Given the description of an element on the screen output the (x, y) to click on. 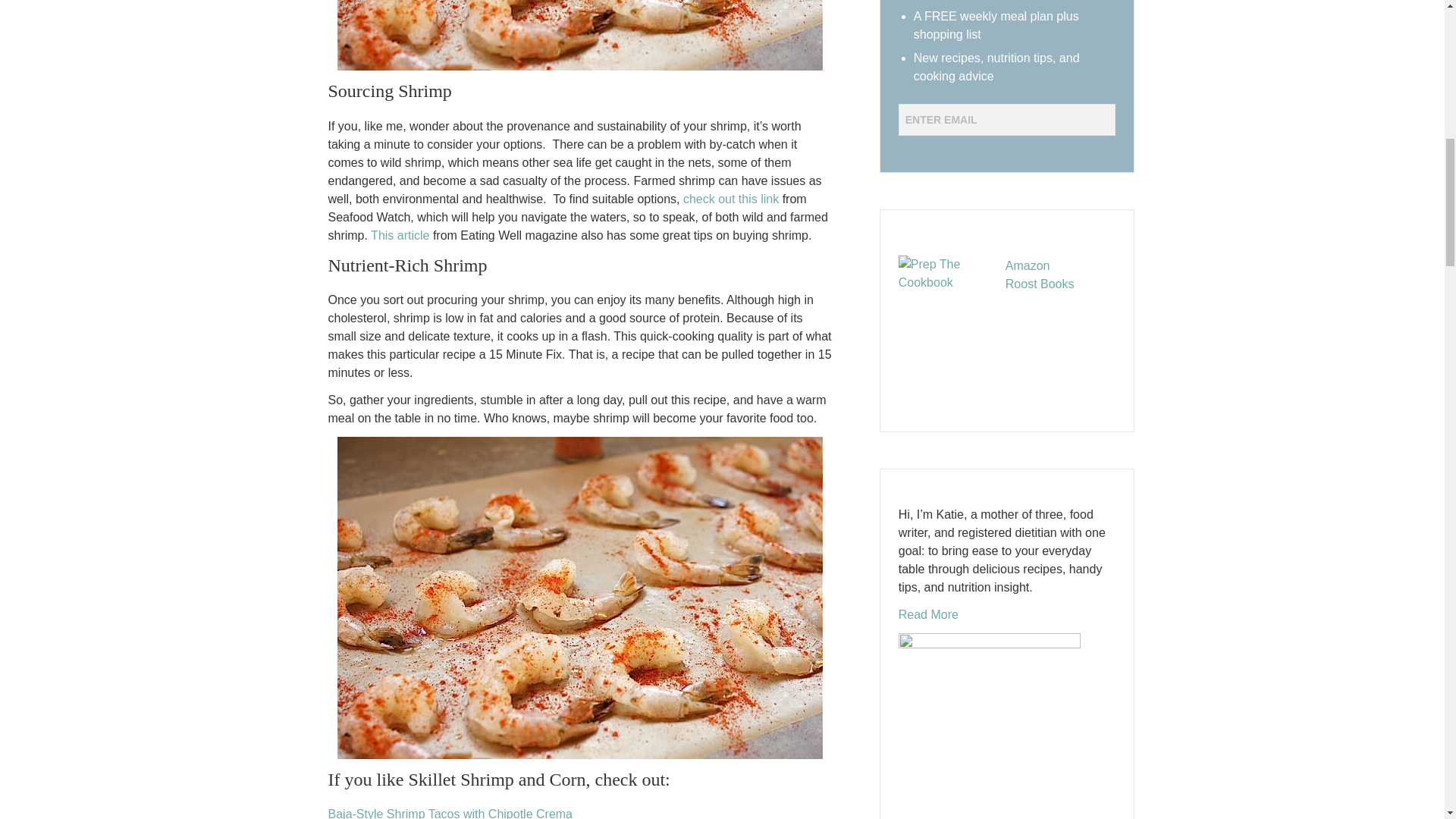
This article (400, 235)
Baja-Style Shrimp Tacos with Chipotle Crema (449, 813)
check out this link (730, 198)
Subscribe (945, 150)
